Given the description of an element on the screen output the (x, y) to click on. 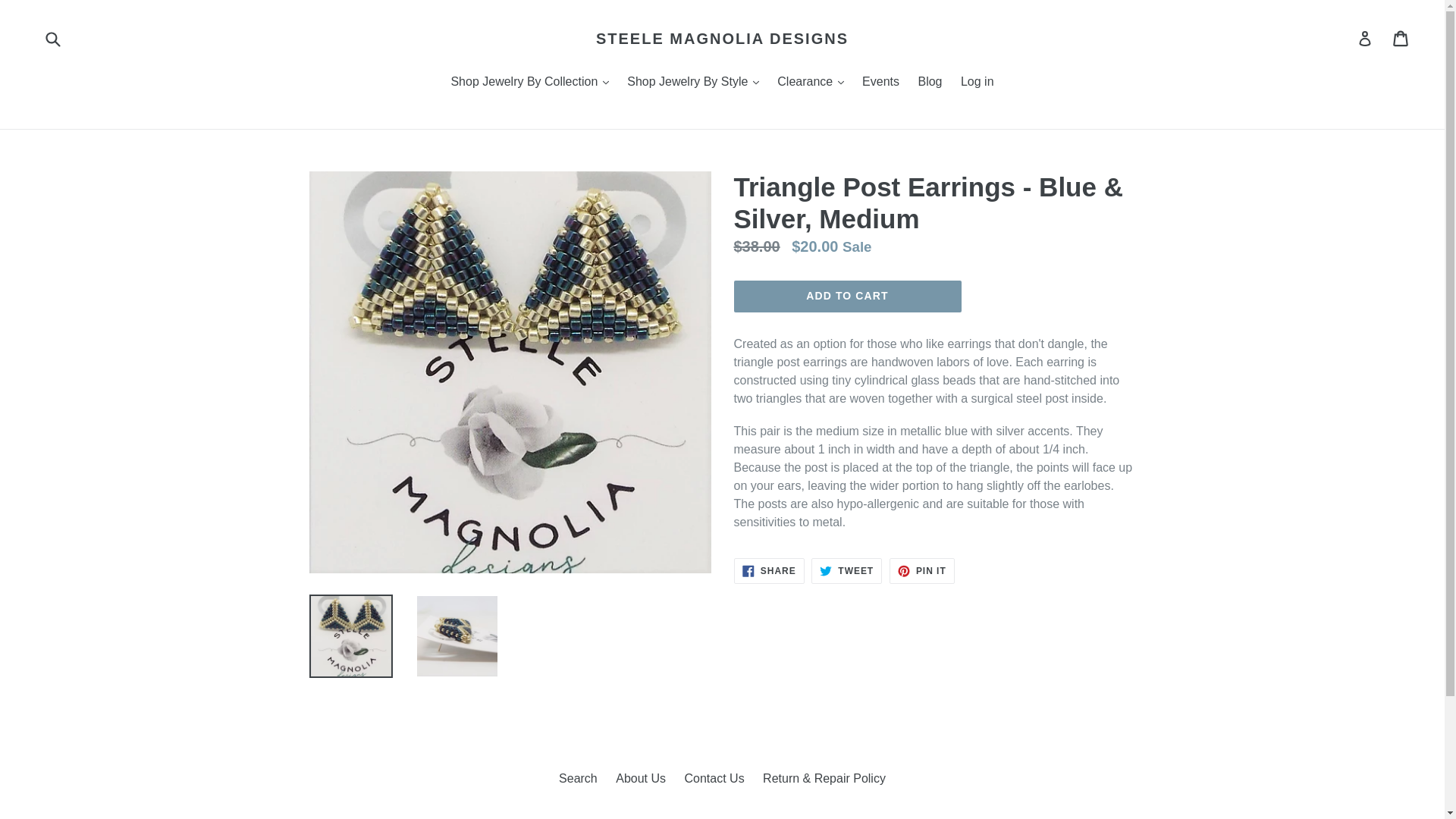
Share on Facebook (769, 570)
Pin on Pinterest (922, 570)
Tweet on Twitter (846, 570)
